Given the description of an element on the screen output the (x, y) to click on. 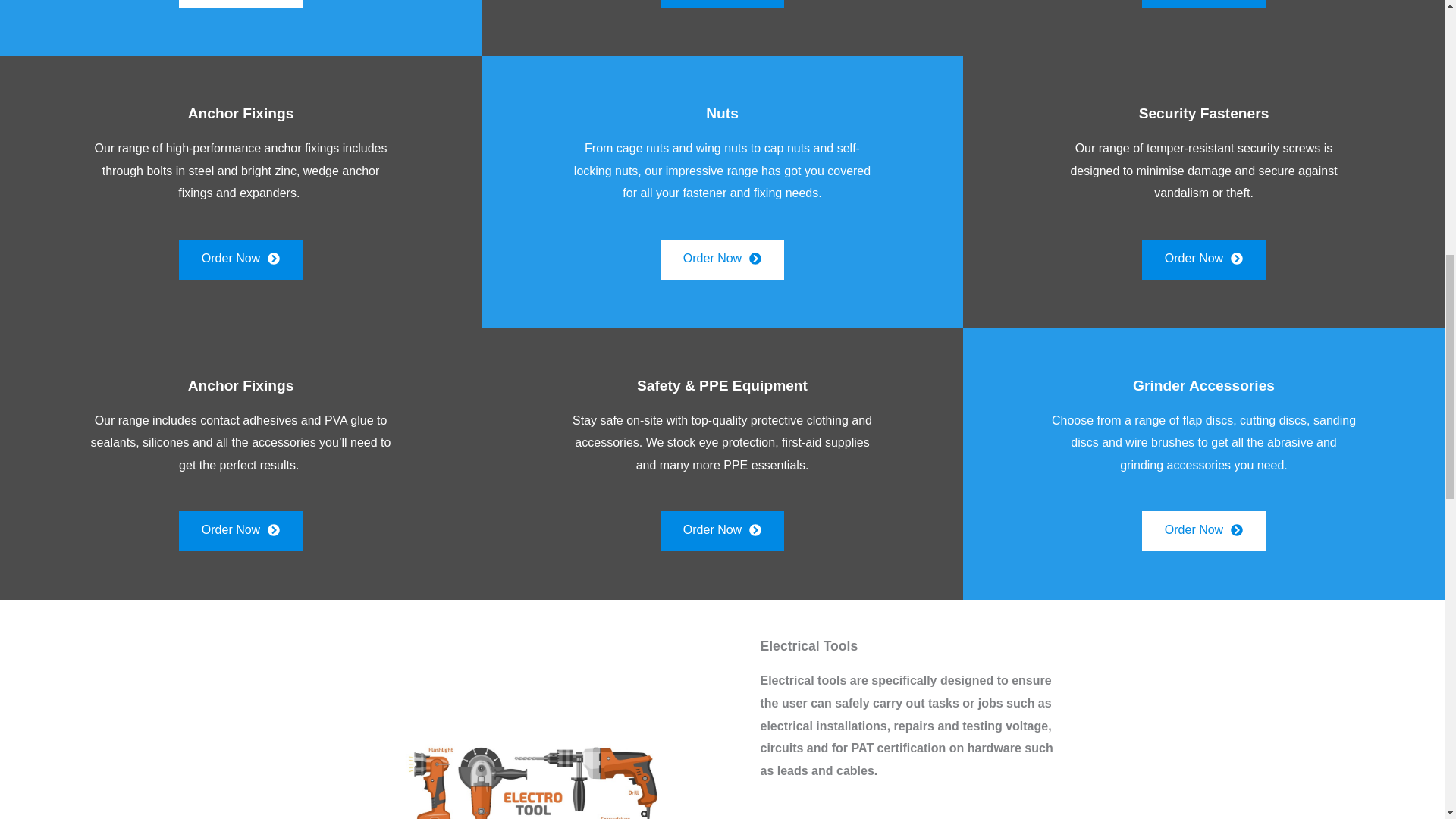
Order Now (722, 259)
Order Now (240, 531)
Order Now (722, 531)
Order Now (722, 3)
Order Now (1203, 531)
Order Now (240, 259)
Order Now (1203, 259)
Order Now (1203, 3)
Order Now (240, 3)
